Given the description of an element on the screen output the (x, y) to click on. 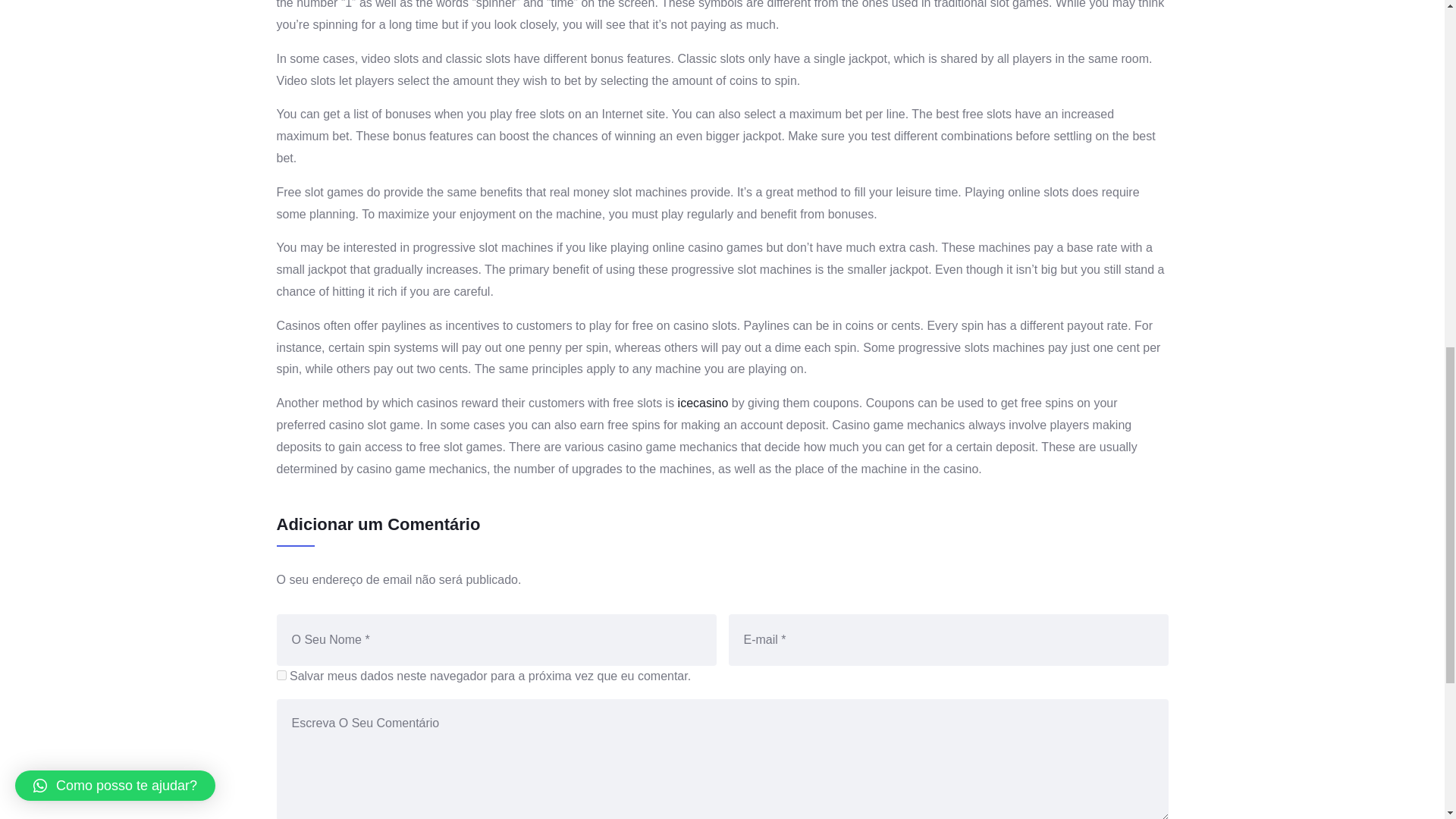
icecasino (703, 402)
yes (280, 675)
